Given the description of an element on the screen output the (x, y) to click on. 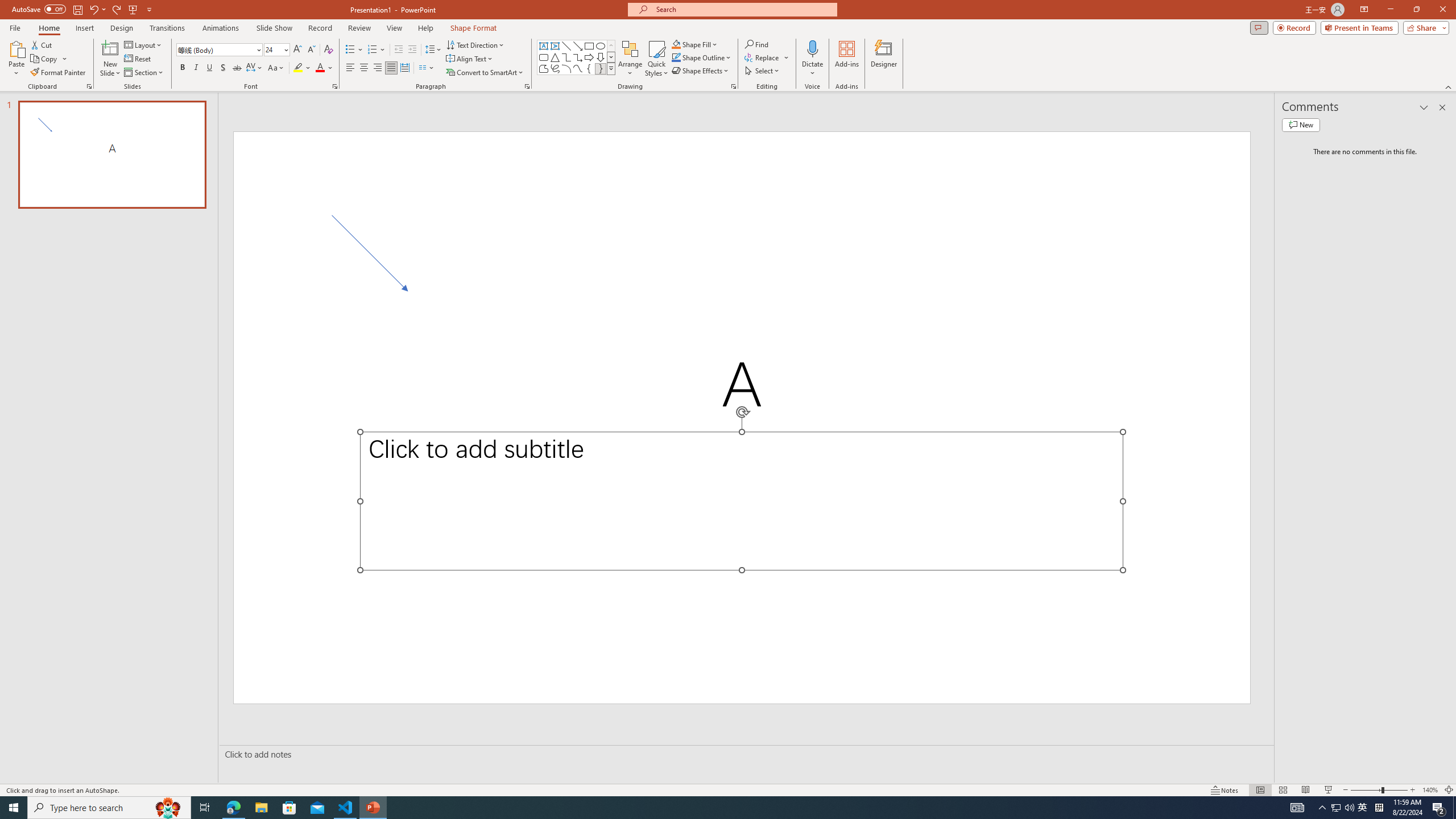
Center (363, 67)
Vertical Text Box (554, 45)
Section (144, 72)
Underline (209, 67)
Arrow: Down (600, 57)
Decrease Font Size (310, 49)
Oval (600, 45)
